Given the description of an element on the screen output the (x, y) to click on. 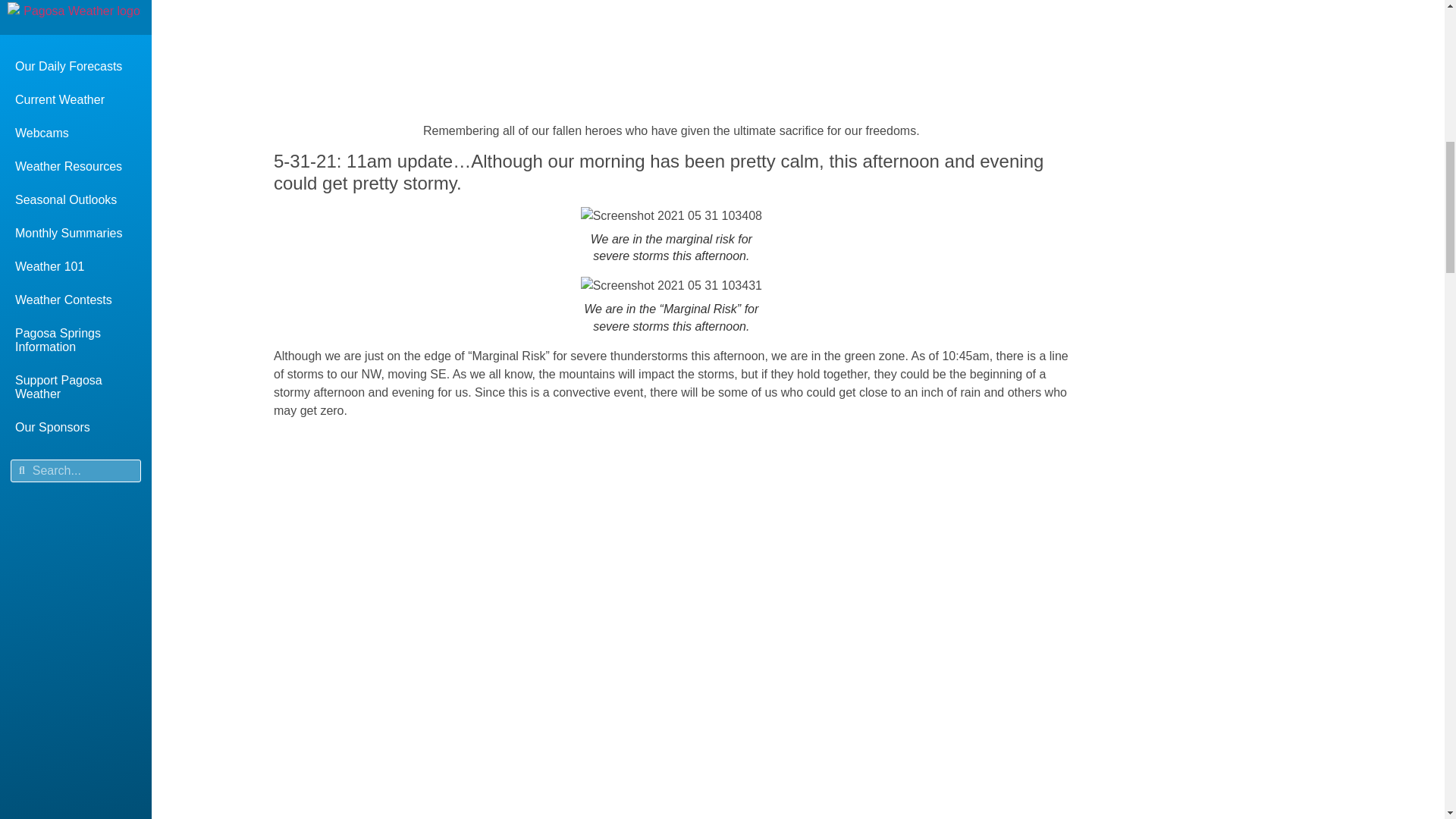
Could get a bit stormy this afternoon... 2 (670, 285)
Could get a bit stormy this afternoon... 1 (670, 216)
